Given the description of an element on the screen output the (x, y) to click on. 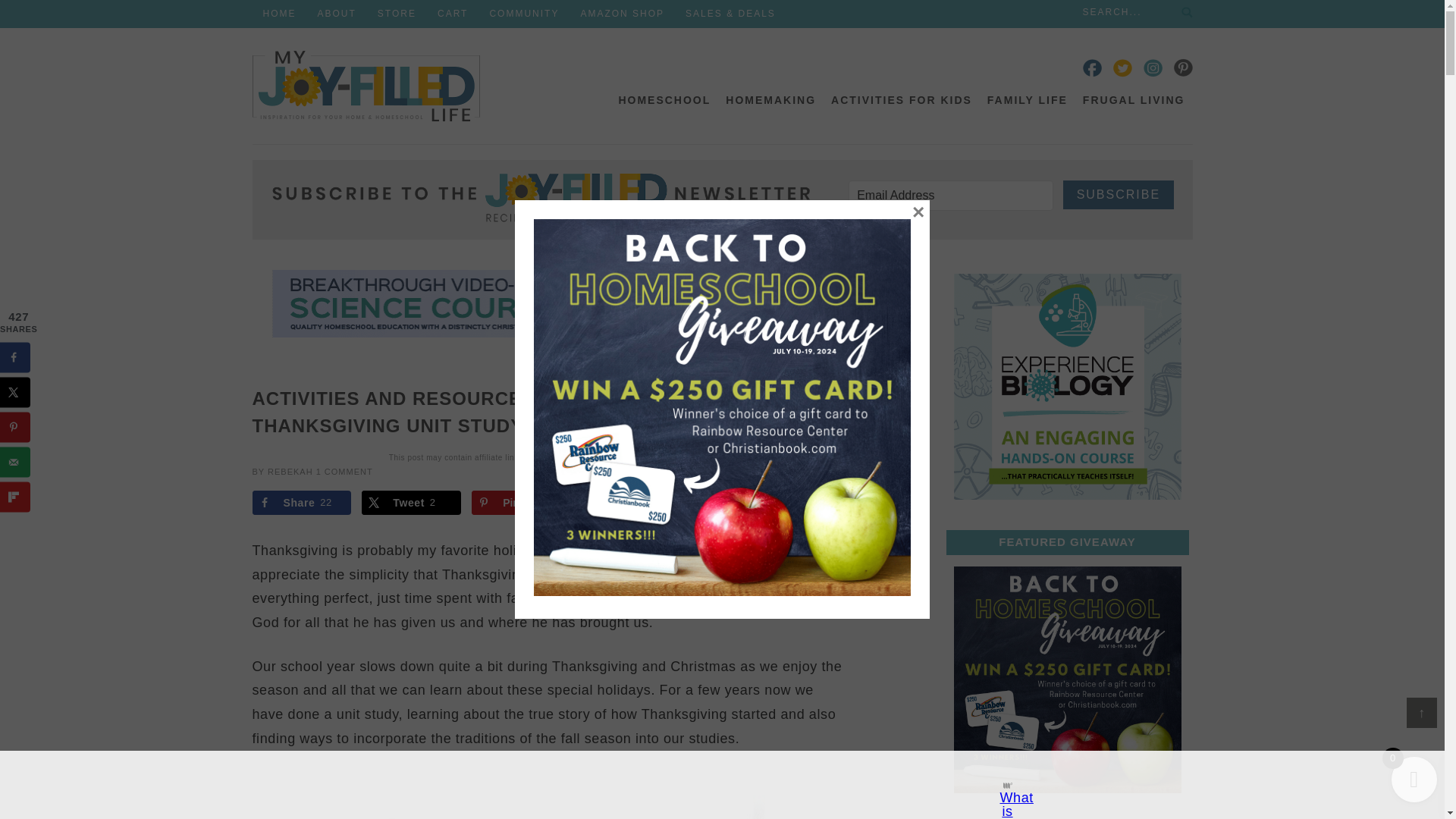
Send over email (630, 502)
Save to Pinterest (520, 502)
Share on Flipboard (740, 502)
Share on X (411, 502)
Share on Facebook (300, 502)
